Given the description of an element on the screen output the (x, y) to click on. 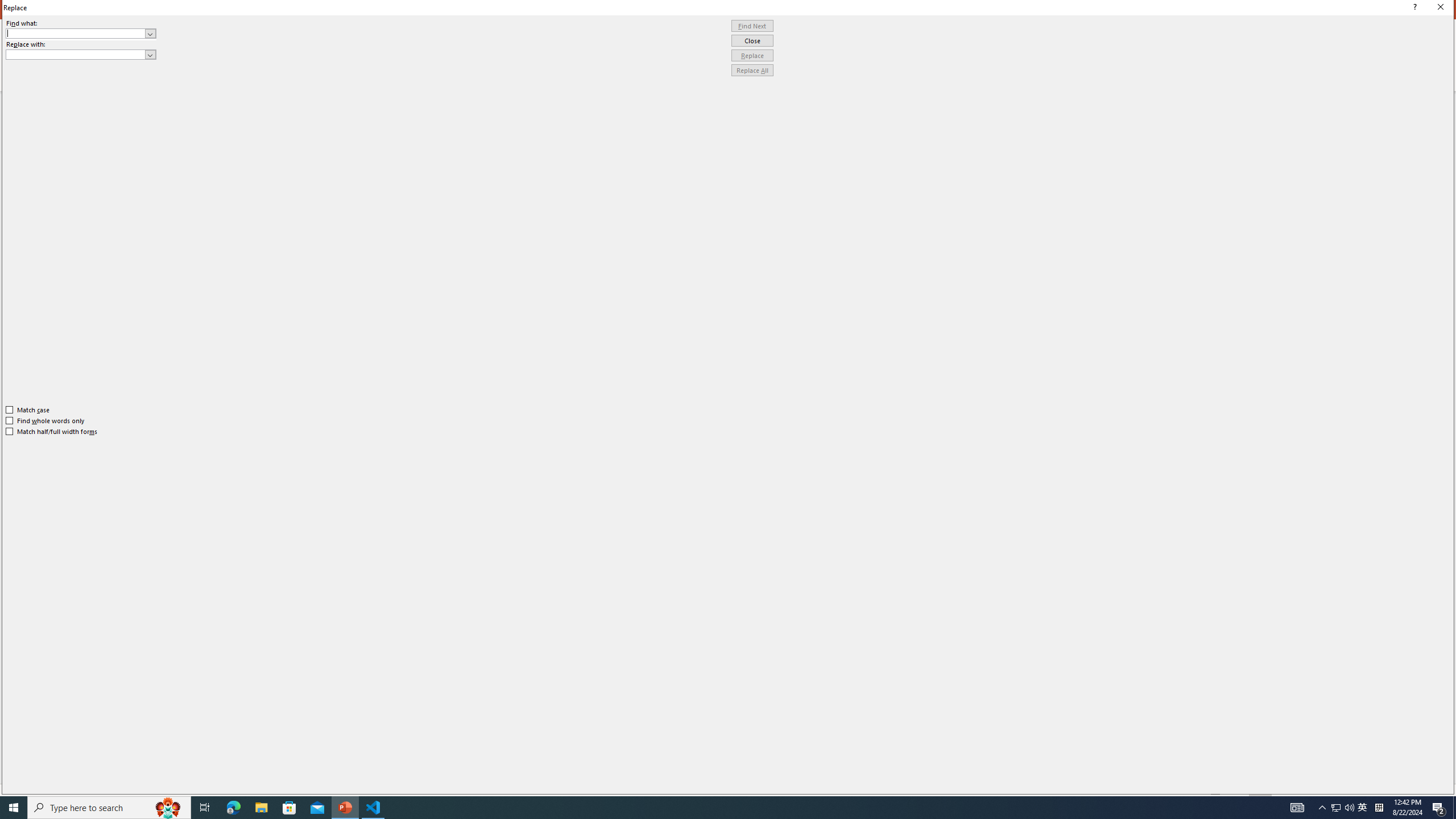
Match half/full width forms (52, 431)
Replace (752, 55)
Find what (80, 33)
Find Next (752, 25)
Replace All (752, 69)
Find whole words only (45, 420)
Replace with (75, 53)
Match case (27, 409)
Replace with (80, 54)
Find what (75, 33)
